Given the description of an element on the screen output the (x, y) to click on. 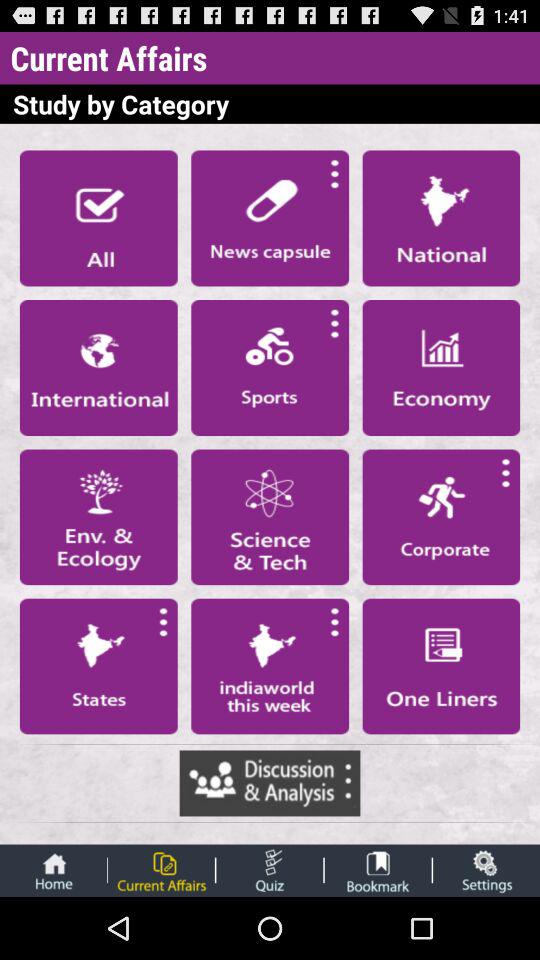
open states category (98, 666)
